Given the description of an element on the screen output the (x, y) to click on. 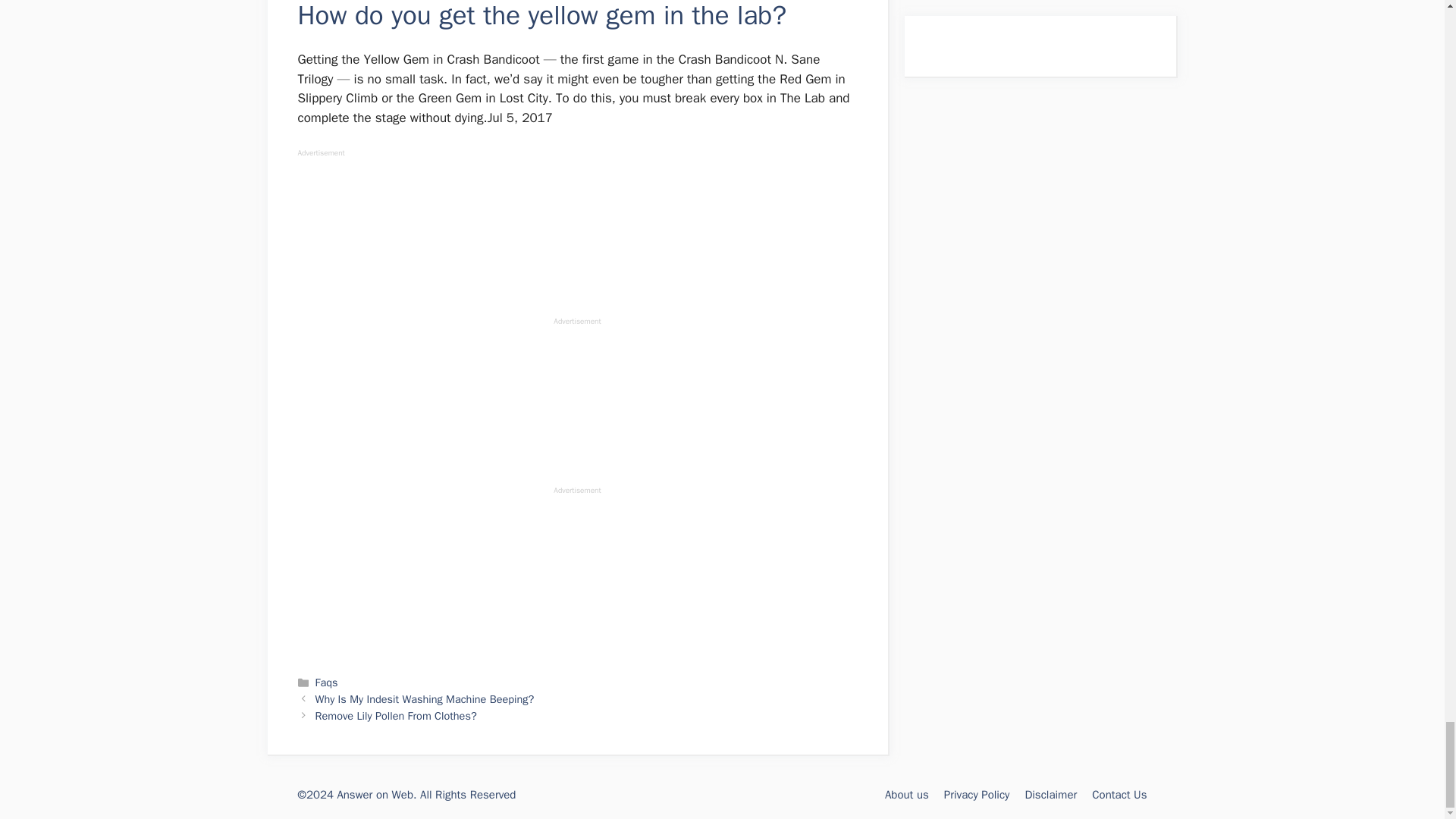
Remove Lily Pollen From Clothes? (396, 715)
Faqs (326, 682)
Why Is My Indesit Washing Machine Beeping? (424, 698)
